Given the description of an element on the screen output the (x, y) to click on. 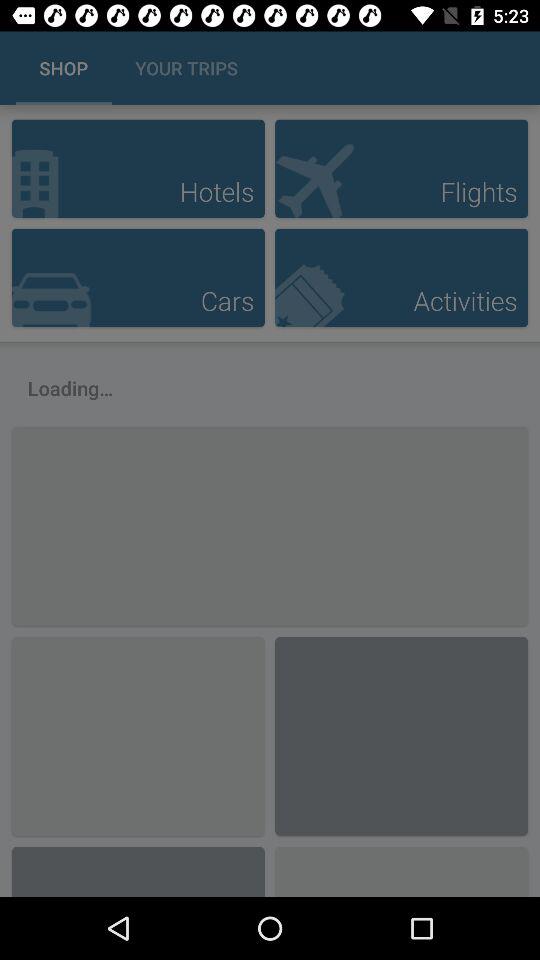
select option (138, 168)
